Given the description of an element on the screen output the (x, y) to click on. 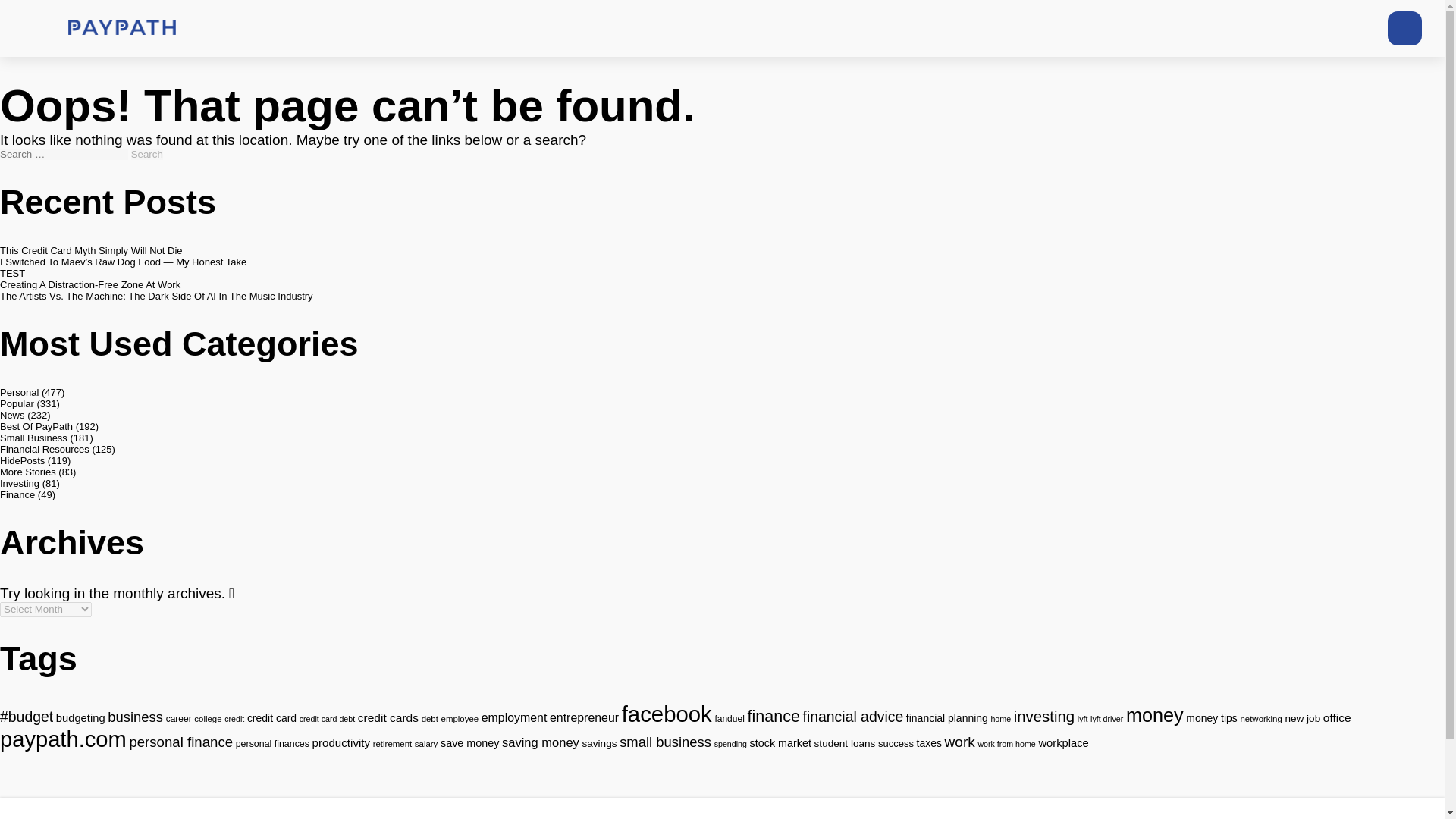
Popular (16, 403)
Search (147, 153)
college (207, 718)
Best Of PayPath (36, 426)
This Credit Card Myth Simply Will Not Die (91, 250)
TEST (12, 273)
career (178, 718)
HidePosts (22, 460)
Search (147, 153)
business (135, 716)
